Given the description of an element on the screen output the (x, y) to click on. 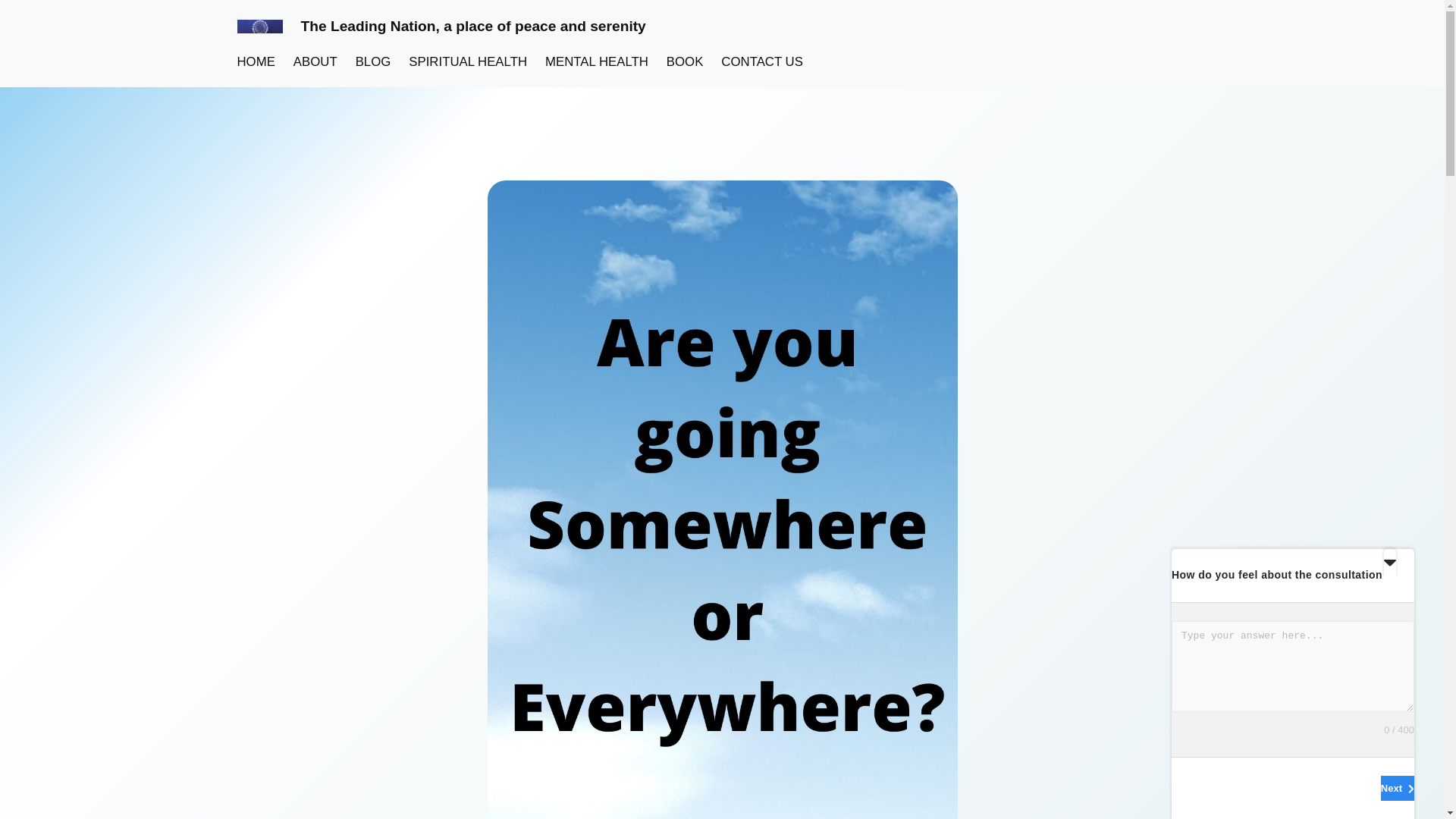
HOME (255, 62)
BOOK (684, 62)
MENTAL HEALTH (595, 62)
SPIRITUAL HEALTH (468, 62)
The Leading Nation, a place of peace and serenity (472, 26)
BLOG (373, 62)
ABOUT (315, 62)
CONTACT US (761, 62)
Next (1396, 787)
